Given the description of an element on the screen output the (x, y) to click on. 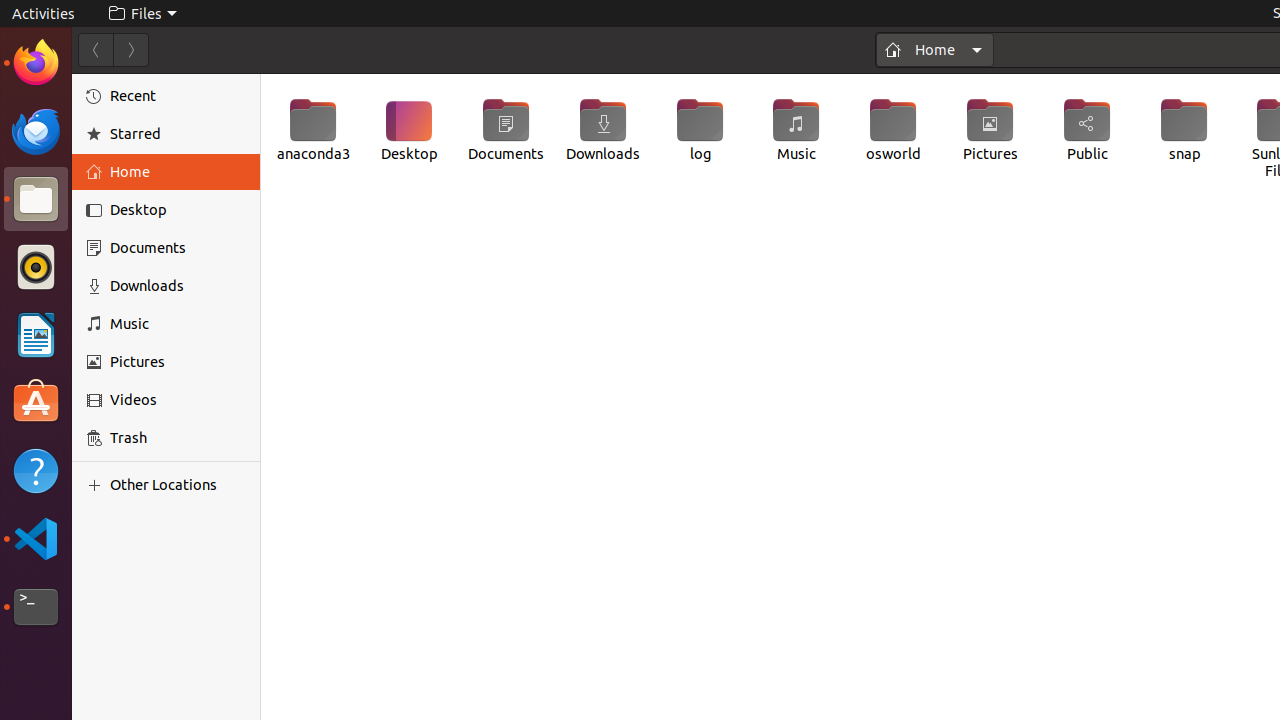
osworld Element type: canvas (893, 130)
IsaHelpMain.desktop Element type: label (133, 300)
snap Element type: canvas (1184, 130)
